Given the description of an element on the screen output the (x, y) to click on. 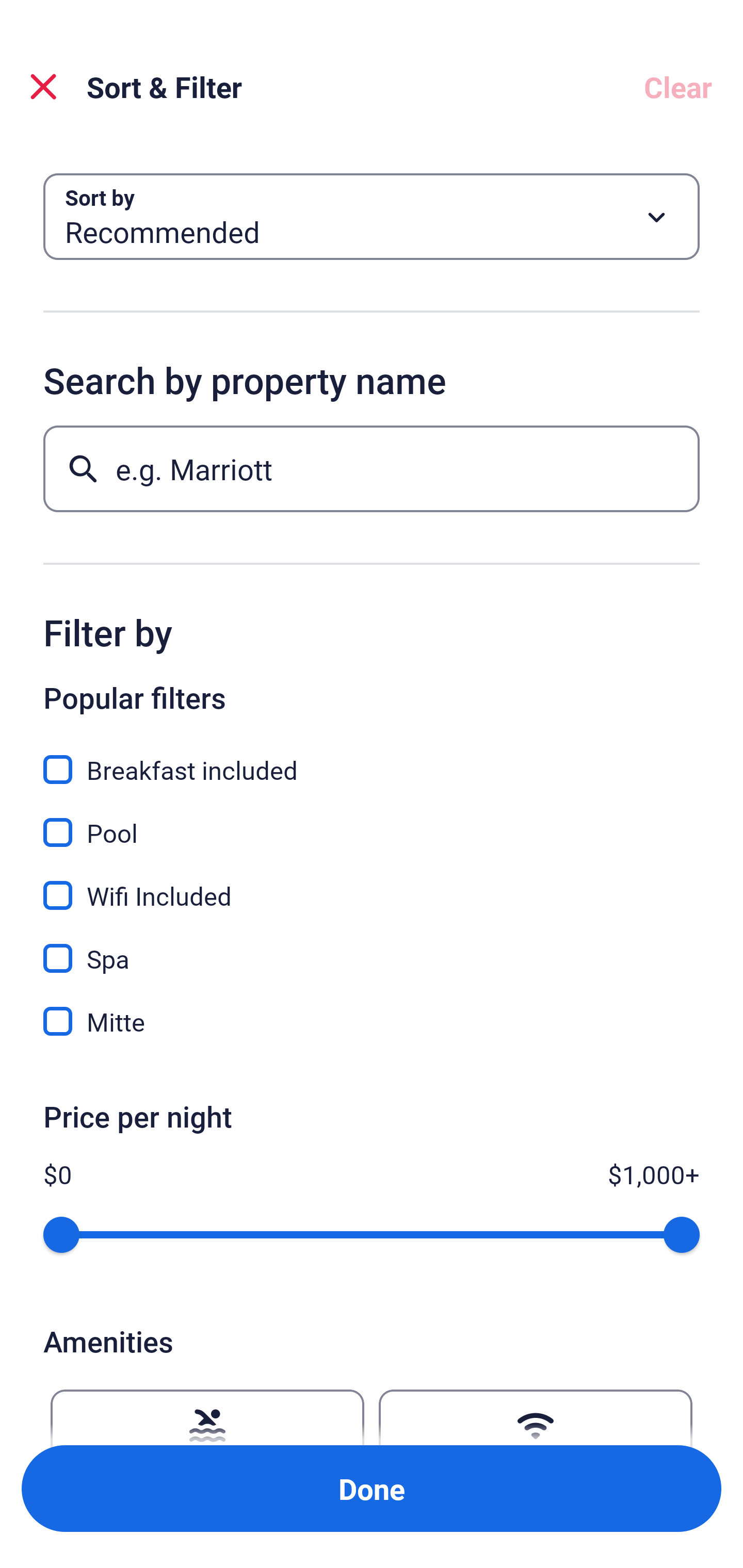
Close Sort and Filter (43, 86)
Clear (677, 86)
Sort by Button Recommended (371, 217)
e.g. Marriott Button (371, 468)
Breakfast included, Breakfast included (371, 757)
Pool, Pool (371, 821)
Wifi Included, Wifi Included (371, 883)
Spa, Spa (371, 946)
Mitte, Mitte (371, 1021)
Apply and close Sort and Filter Done (371, 1488)
